Given the description of an element on the screen output the (x, y) to click on. 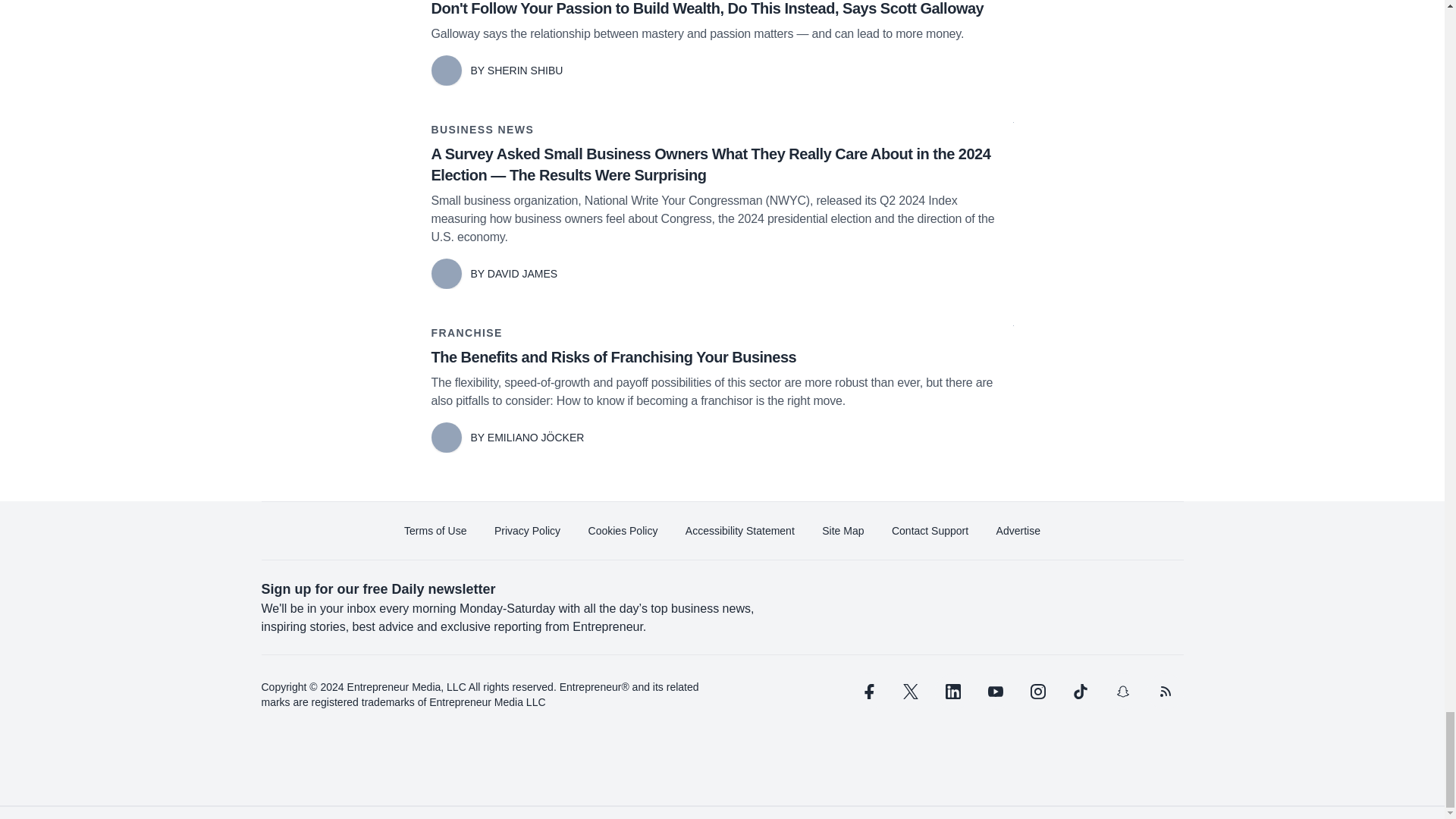
linkedin (952, 691)
instagram (1037, 691)
twitter (909, 691)
youtube (994, 691)
tiktok (1079, 691)
snapchat (1121, 691)
facebook (866, 691)
